Given the description of an element on the screen output the (x, y) to click on. 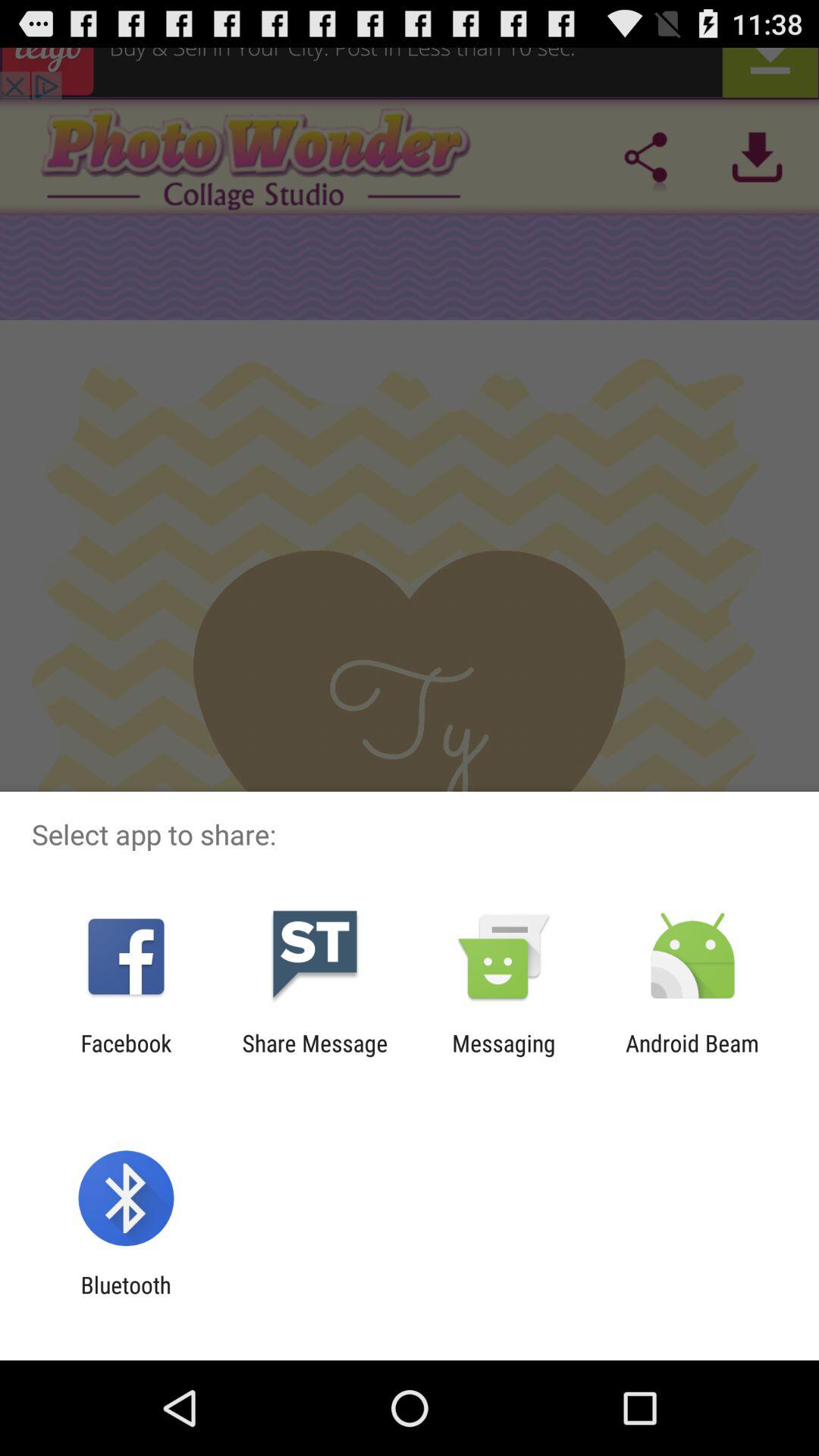
select item to the right of the messaging item (692, 1056)
